Given the description of an element on the screen output the (x, y) to click on. 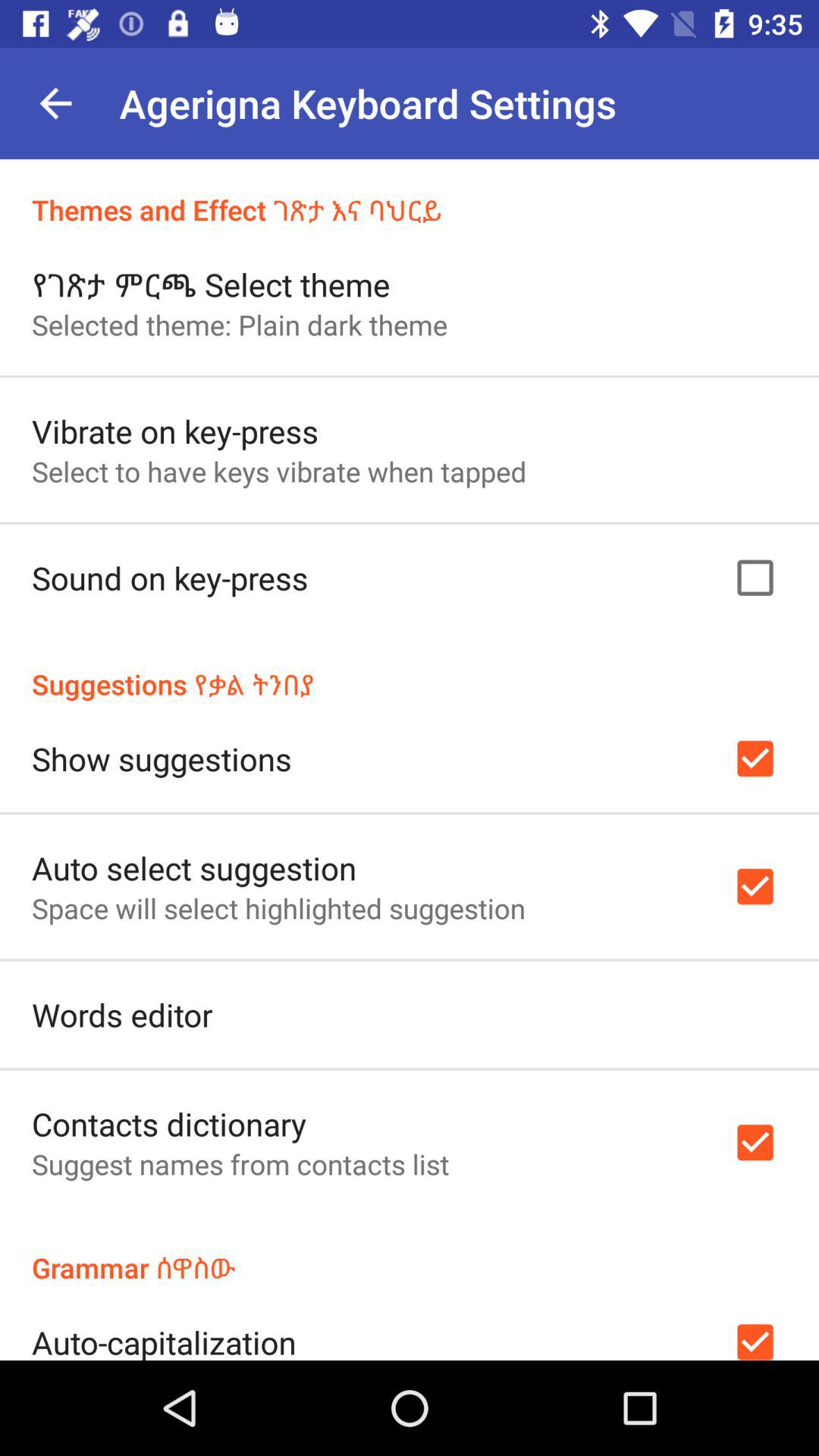
turn on item above sound on key icon (278, 471)
